Given the description of an element on the screen output the (x, y) to click on. 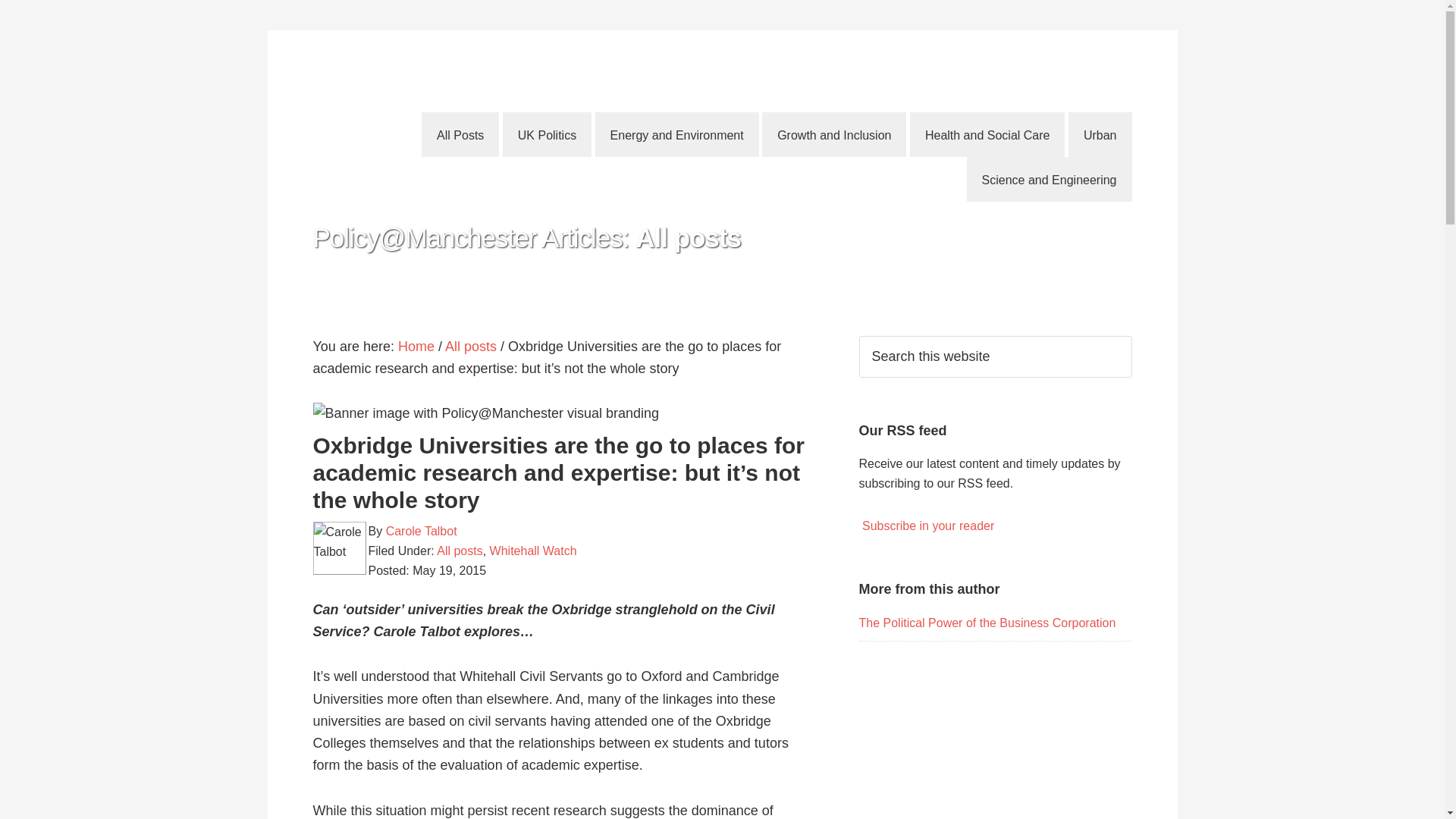
All posts (470, 346)
Health and Social Care (987, 134)
Whitehall Watch (532, 550)
UK Politics (546, 134)
The Political Power of the Business Corporation (987, 622)
Carole Talbot (421, 530)
All Posts (460, 134)
All posts (458, 550)
Energy and Environment (676, 134)
